Given the description of an element on the screen output the (x, y) to click on. 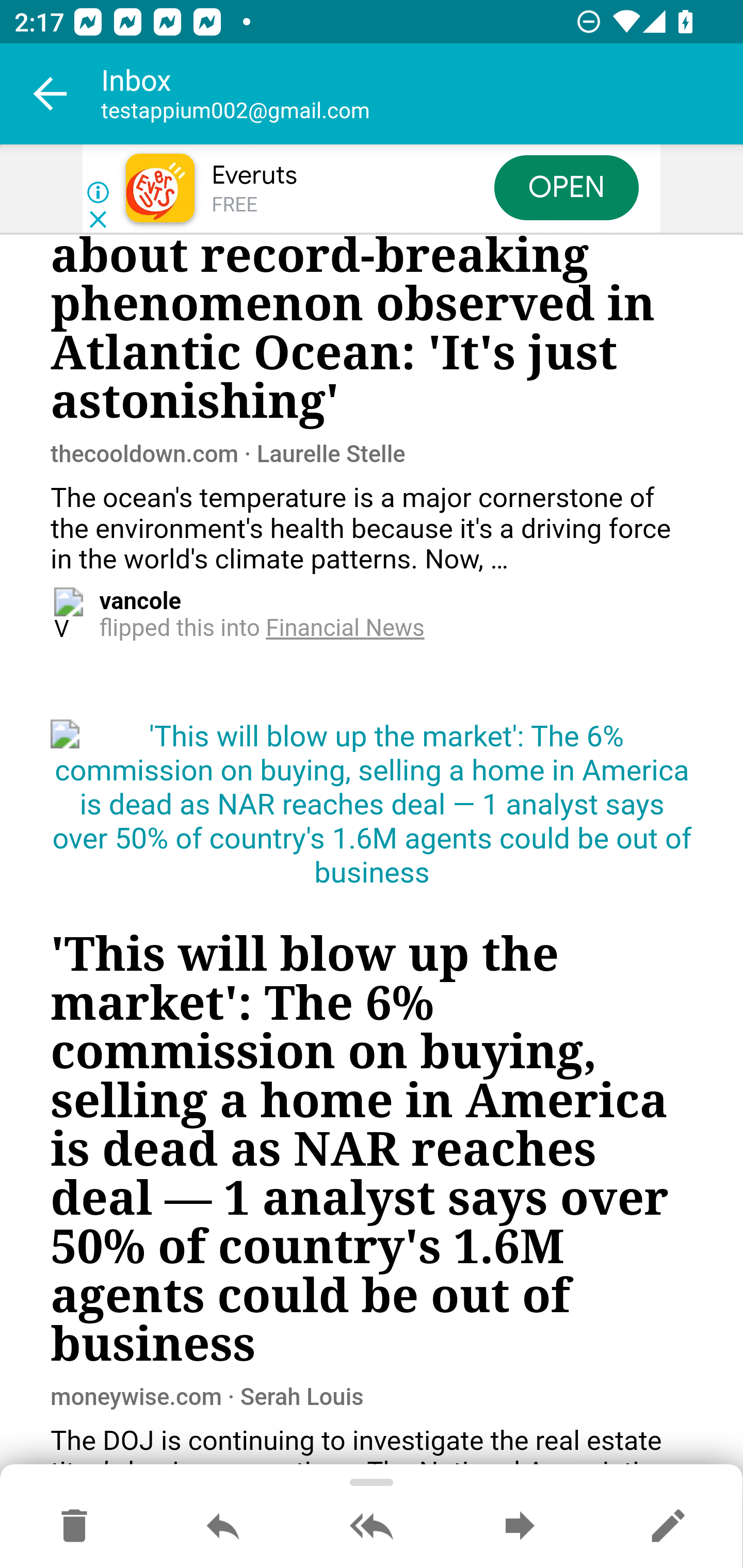
Navigate up (50, 93)
Inbox testappium002@gmail.com (422, 93)
OPEN (566, 187)
Everuts (253, 175)
FREE (234, 204)
Financial News (345, 628)
Move to Deleted (74, 1527)
Reply (222, 1527)
Reply all (371, 1527)
Forward (519, 1527)
Reply as new (667, 1527)
